Given the description of an element on the screen output the (x, y) to click on. 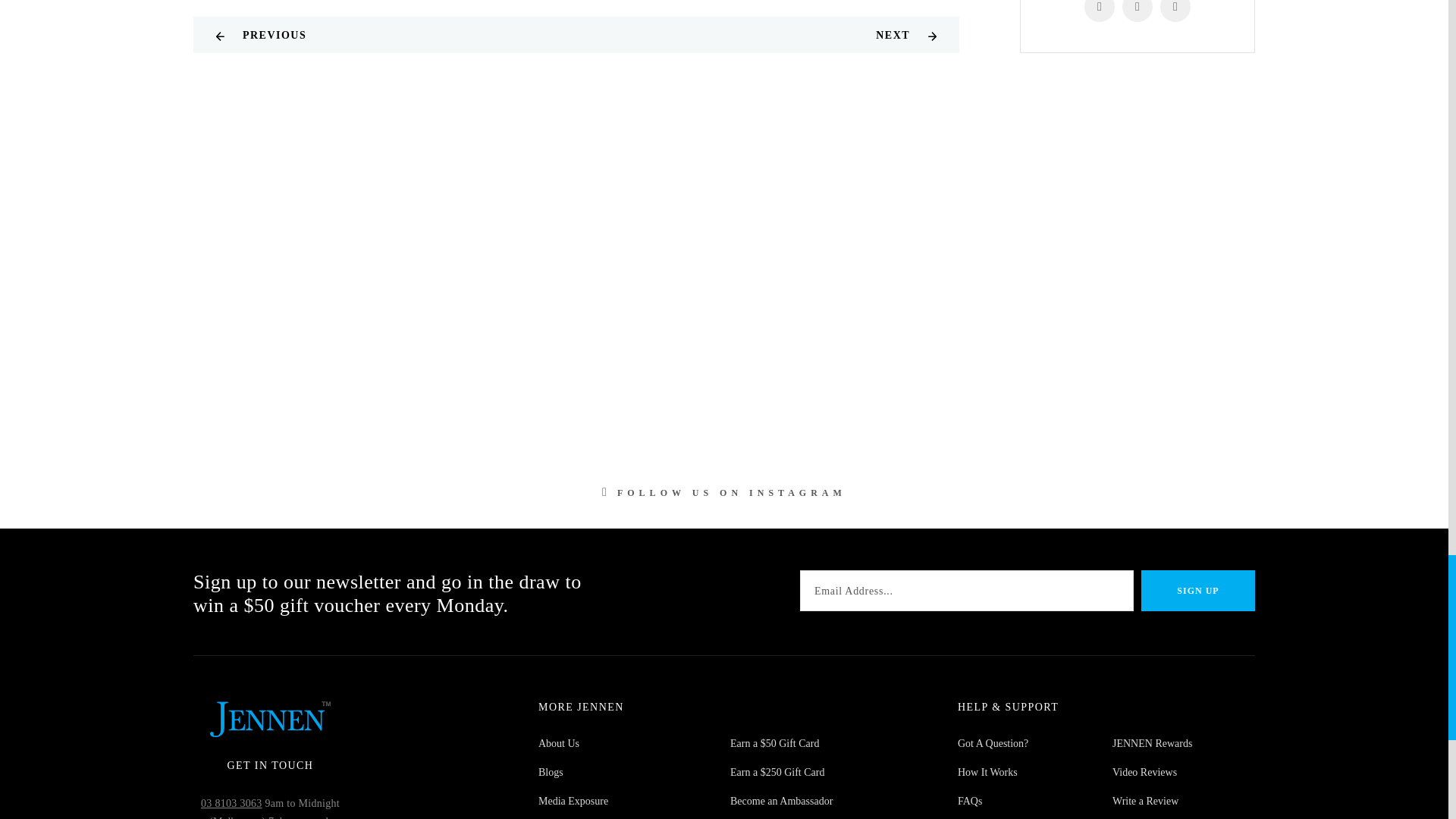
Sign up (1198, 590)
